Given the description of an element on the screen output the (x, y) to click on. 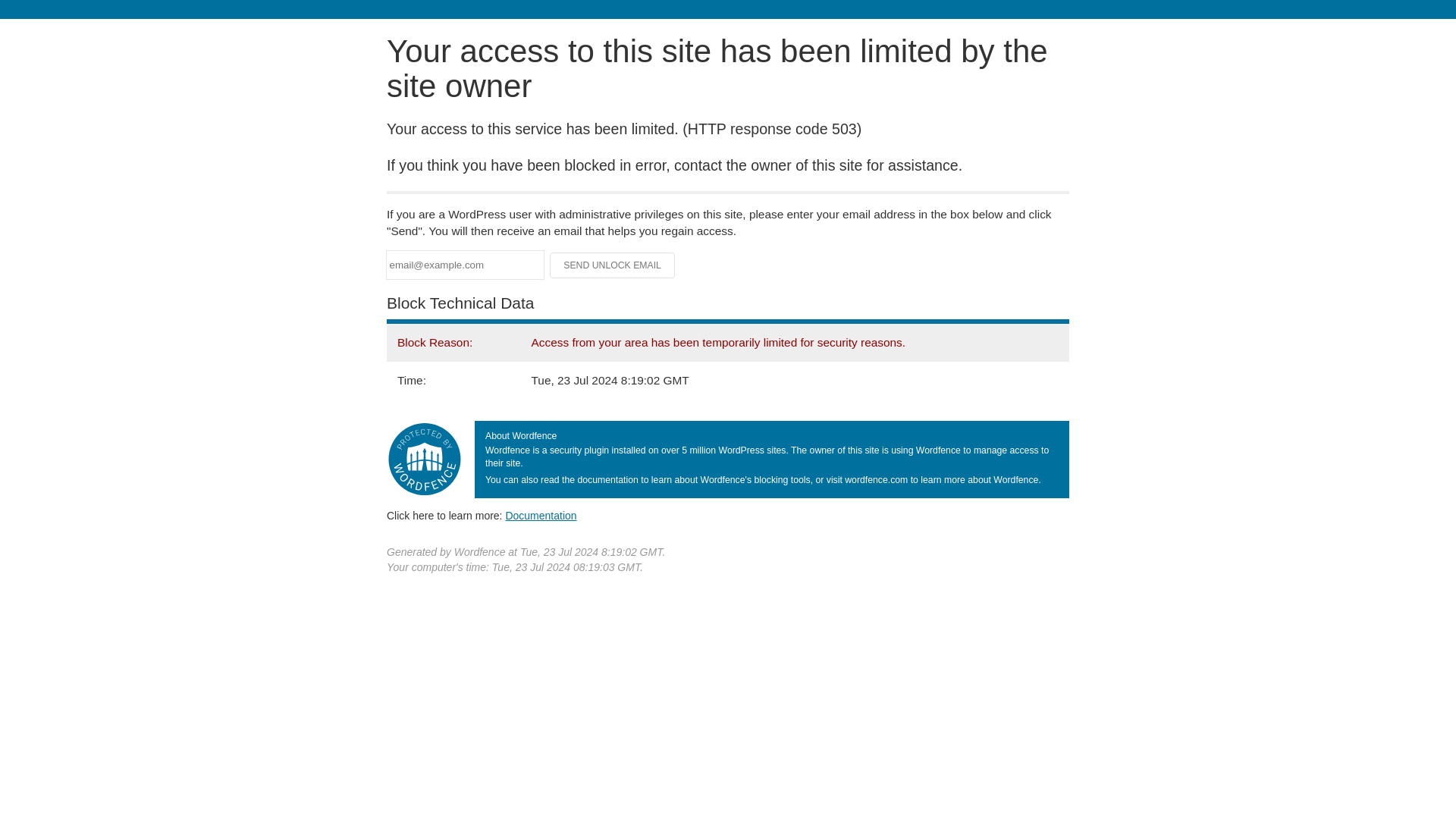
Documentation (540, 515)
Send Unlock Email (612, 265)
Send Unlock Email (612, 265)
